Given the description of an element on the screen output the (x, y) to click on. 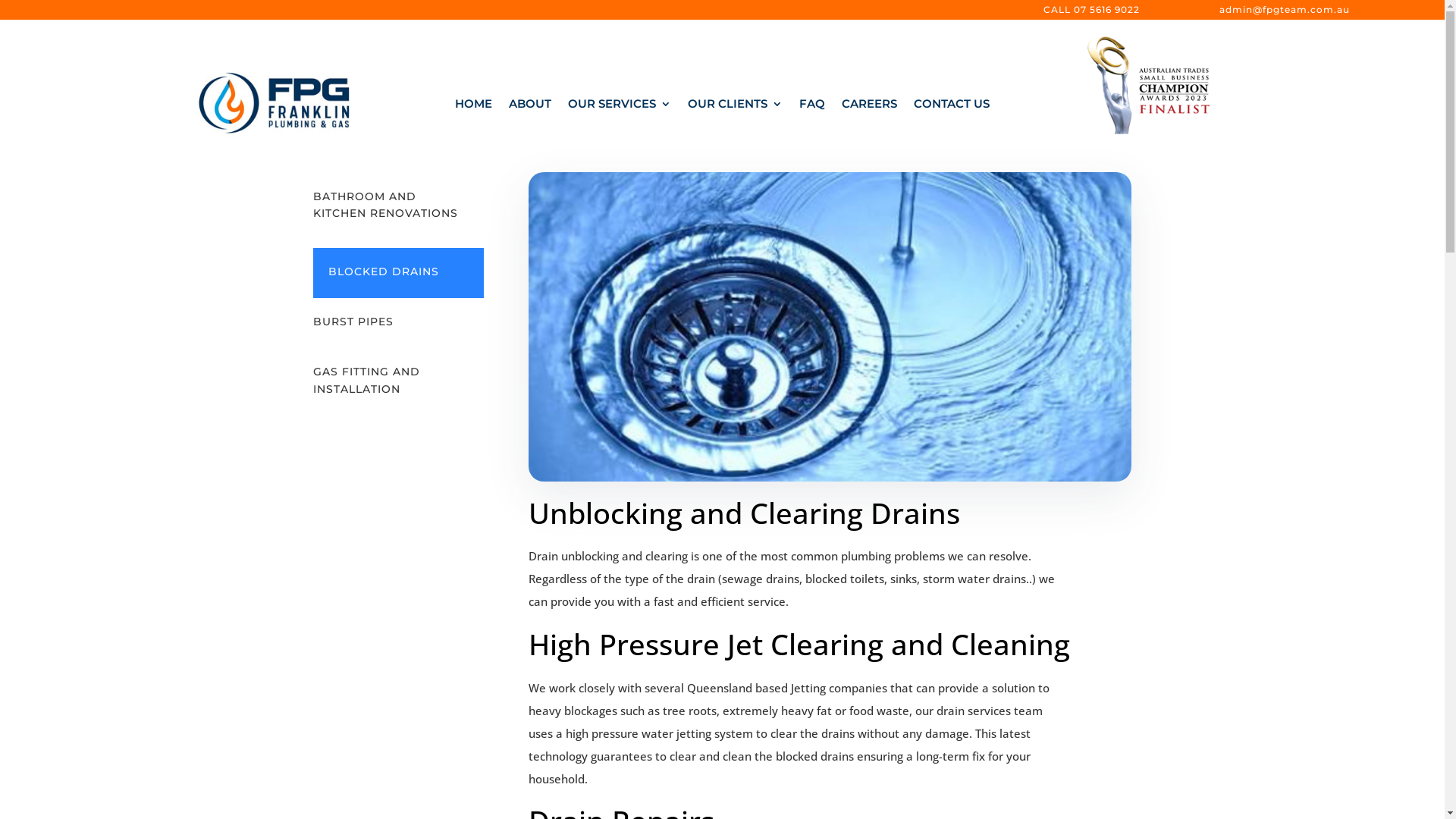
HOME Element type: text (473, 106)
GAS FITTING AND INSTALLATION Element type: text (365, 379)
CONTACT US Element type: text (951, 106)
fpgteam-logo-2023 Element type: hover (273, 102)
BURST PIPES Element type: text (352, 321)
ABOUT Element type: text (529, 106)
Trades-Champions_2023_Finalist_Logo-3 Element type: hover (1148, 84)
OUR CLIENTS Element type: text (734, 106)
BATHROOM AND KITCHEN RENOVATIONS Element type: text (384, 204)
OUR SERVICES Element type: text (619, 106)
CAREERS Element type: text (869, 106)
FAQ Element type: text (812, 106)
